Given the description of an element on the screen output the (x, y) to click on. 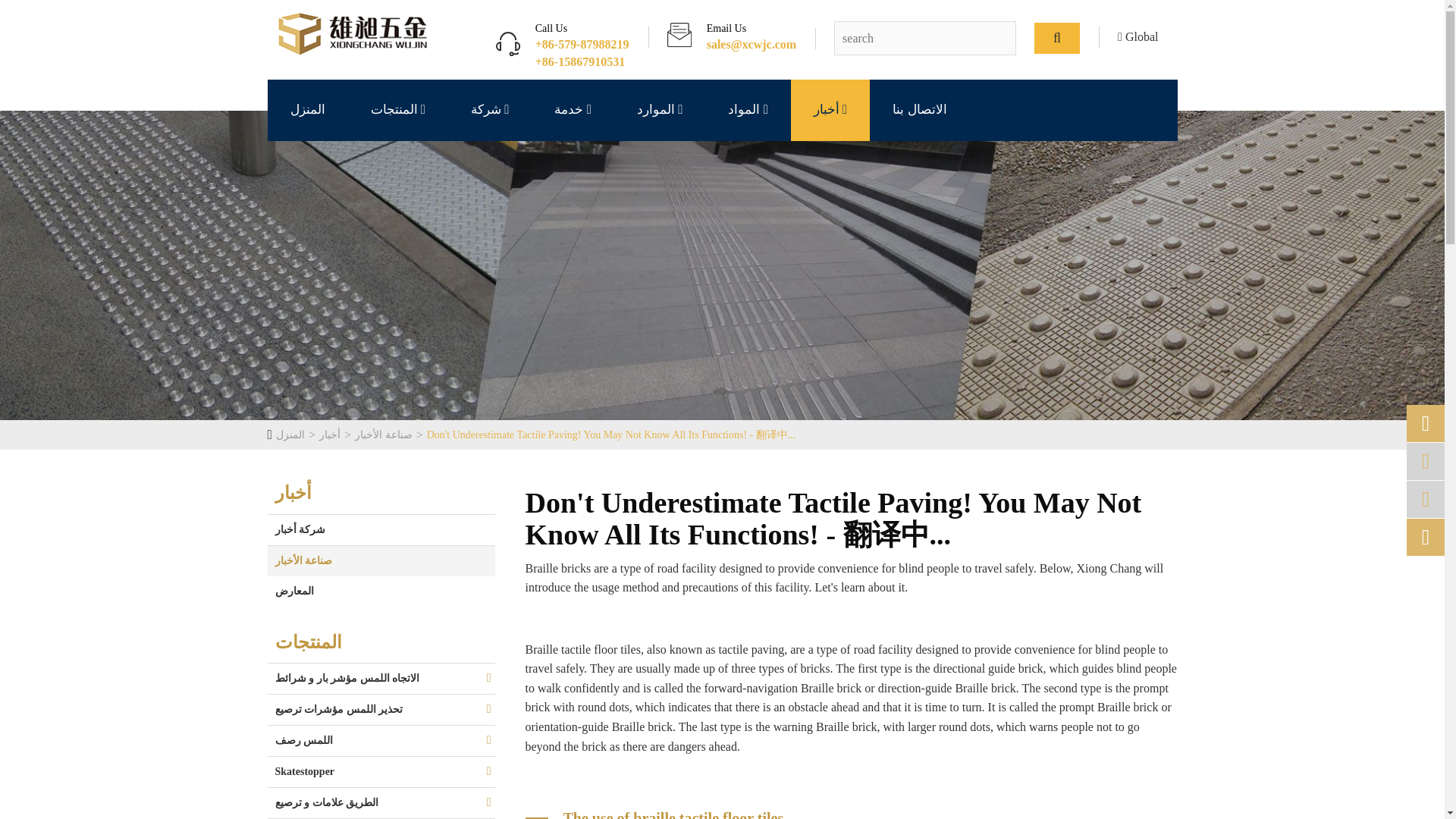
submit (1056, 38)
